Given the description of an element on the screen output the (x, y) to click on. 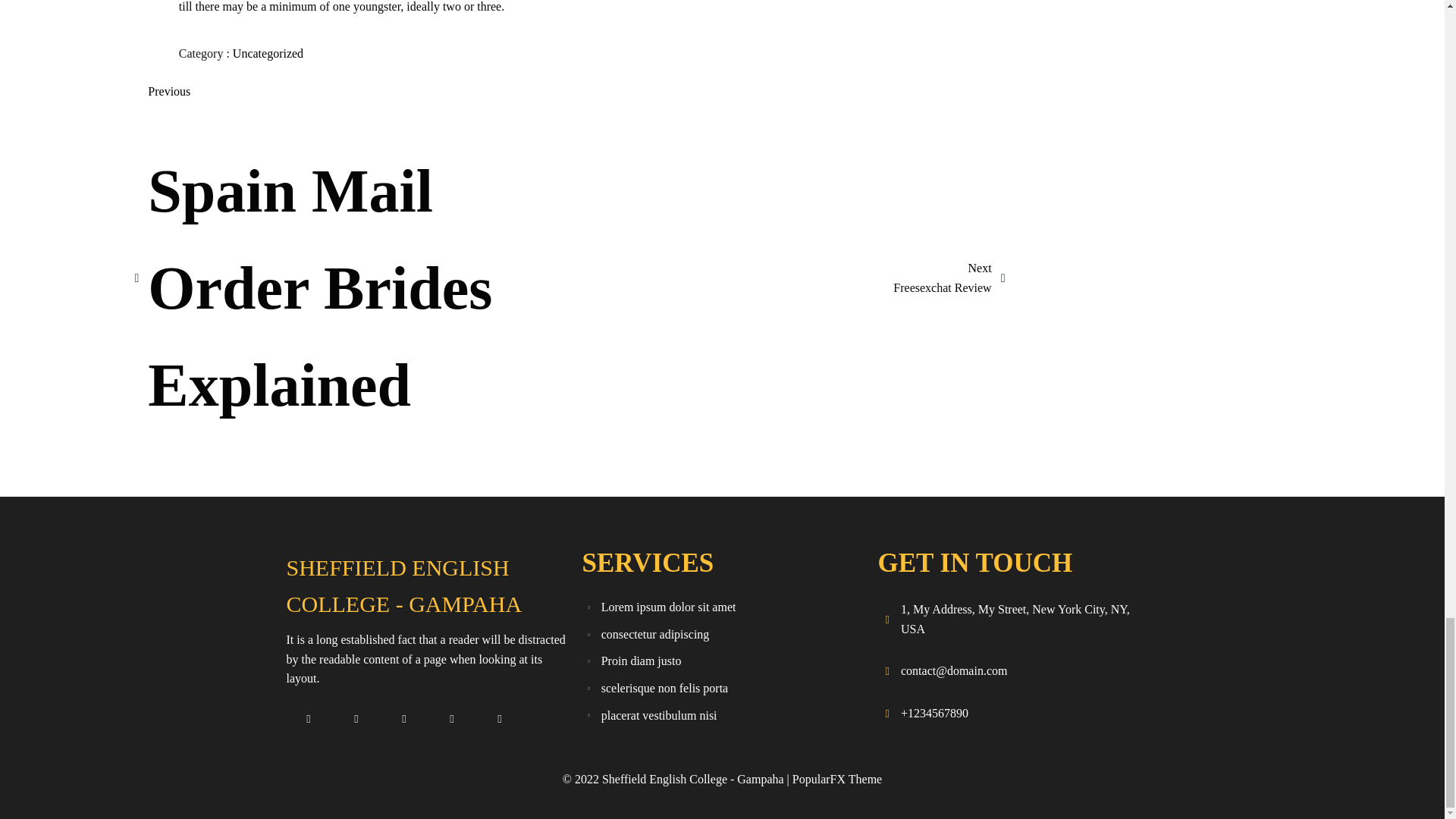
Lorem ipsum dolor sit amet (722, 606)
Proin diam justo (722, 660)
consectetur adipiscing (948, 277)
PopularFX Theme (722, 634)
Uncategorized (837, 779)
placerat vestibulum nisi (267, 52)
scelerisque non felis porta (722, 715)
